Given the description of an element on the screen output the (x, y) to click on. 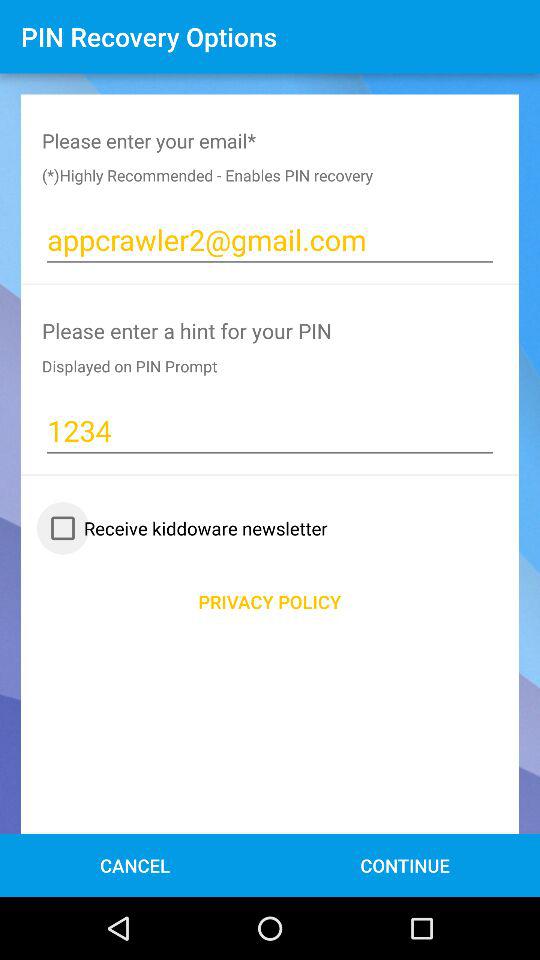
press 1234 item (269, 430)
